Given the description of an element on the screen output the (x, y) to click on. 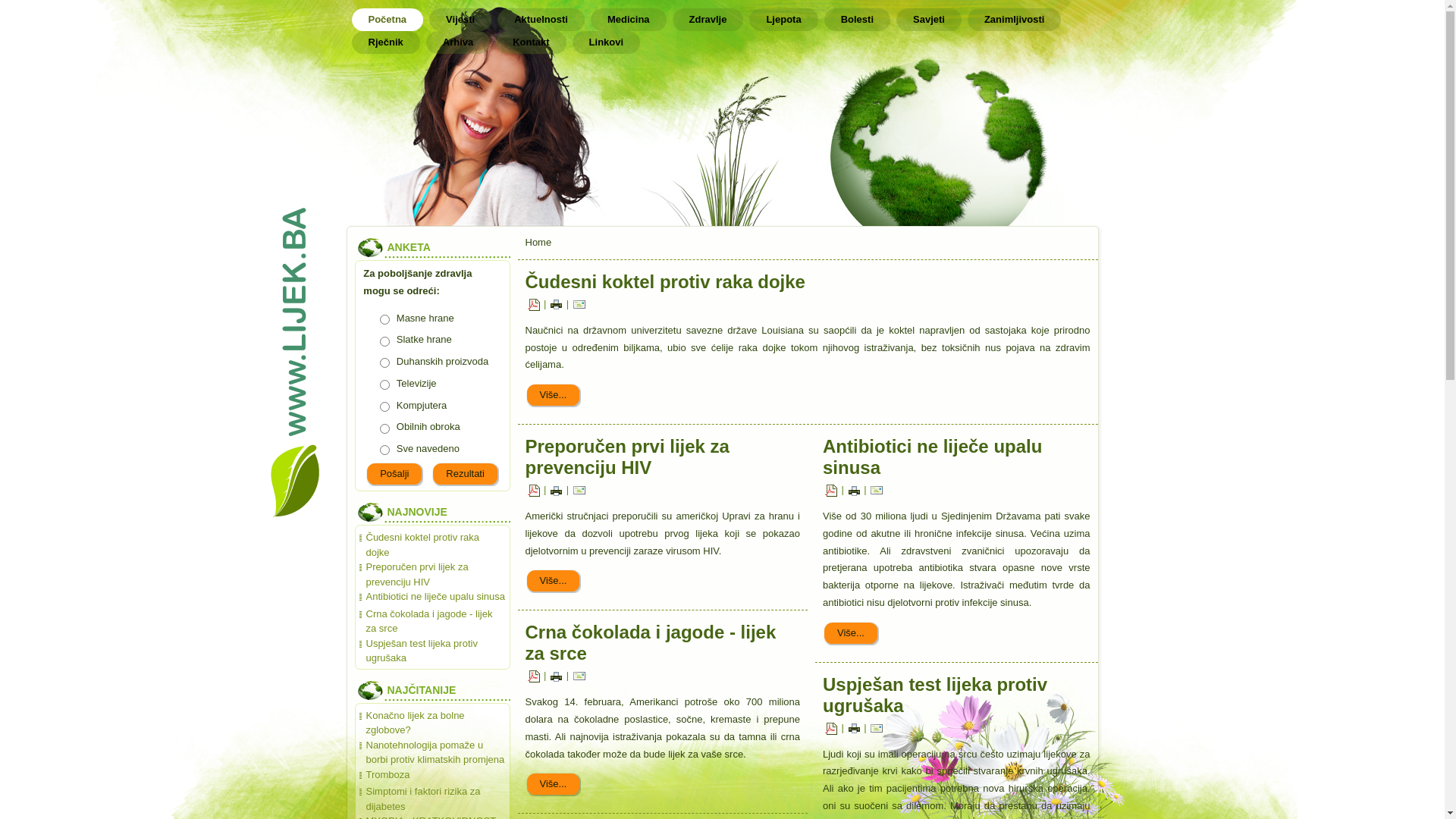
Rezultati Element type: text (464, 473)
PDF Element type: hover (533, 489)
E-mail Element type: hover (578, 303)
Bolesti Element type: text (857, 19)
Simptomi i faktori rizika za dijabetes Element type: text (422, 798)
E-mail Element type: hover (578, 675)
Kontakt Element type: text (530, 42)
Ispis Element type: hover (556, 675)
Medicina Element type: text (628, 19)
Ispis Element type: hover (854, 727)
Ispis Element type: hover (854, 489)
Savjeti Element type: text (928, 19)
Ljepota Element type: text (783, 19)
Zanimljivosti Element type: text (1013, 19)
Arhiva Element type: text (457, 42)
Linkovi Element type: text (606, 42)
E-mail Element type: hover (876, 489)
Tromboza Element type: text (387, 774)
E-mail Element type: hover (876, 727)
Ispis Element type: hover (556, 489)
PDF Element type: hover (830, 489)
PDF Element type: hover (533, 675)
PDF Element type: hover (533, 303)
Zdravlje Element type: text (707, 19)
Vijesti Element type: text (460, 19)
E-mail Element type: hover (578, 489)
Aktuelnosti Element type: text (540, 19)
PDF Element type: hover (830, 727)
Ispis Element type: hover (556, 303)
